Given the description of an element on the screen output the (x, y) to click on. 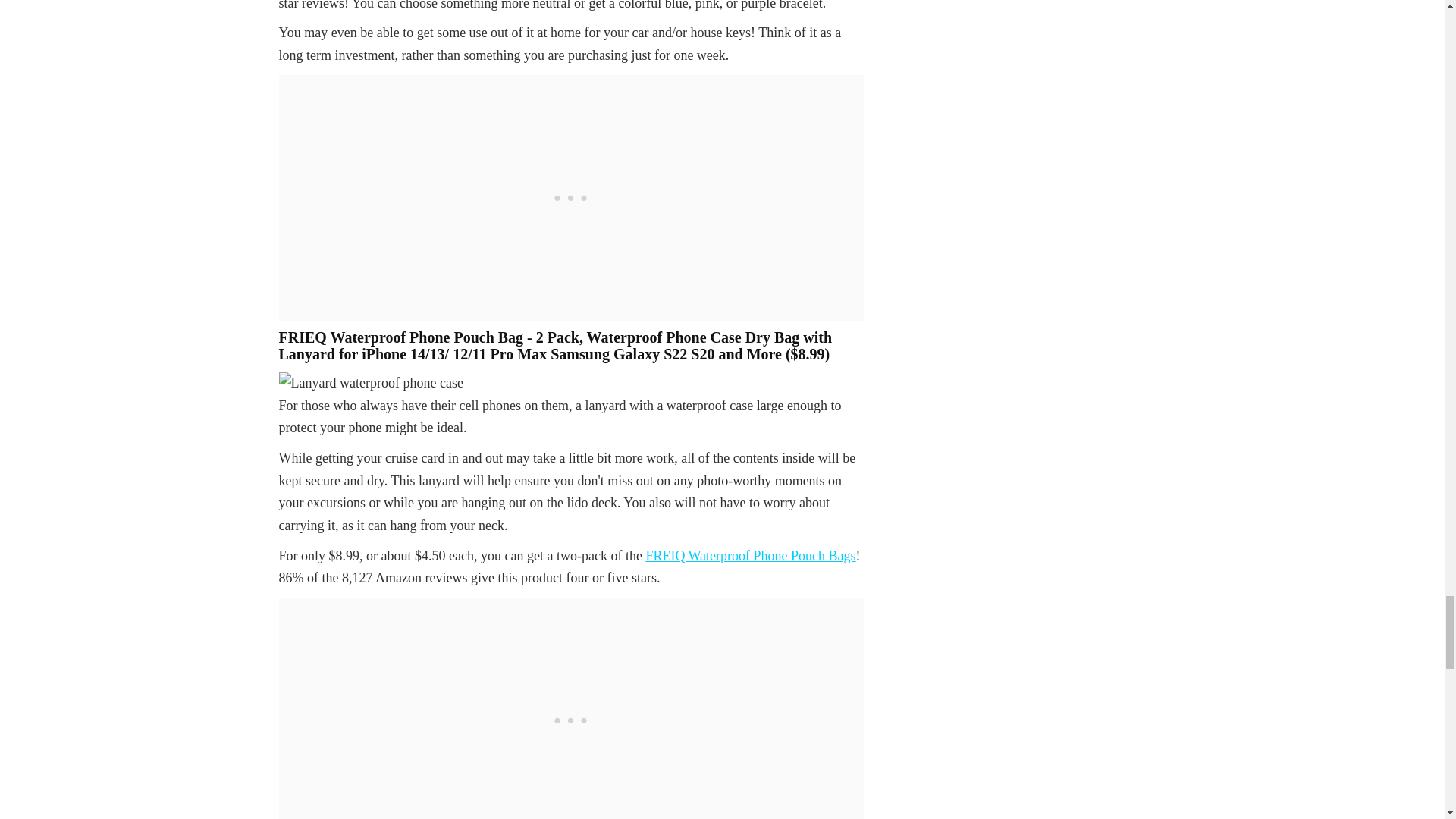
FREIQ Waterproof Phone Pouch Bags (750, 555)
